Given the description of an element on the screen output the (x, y) to click on. 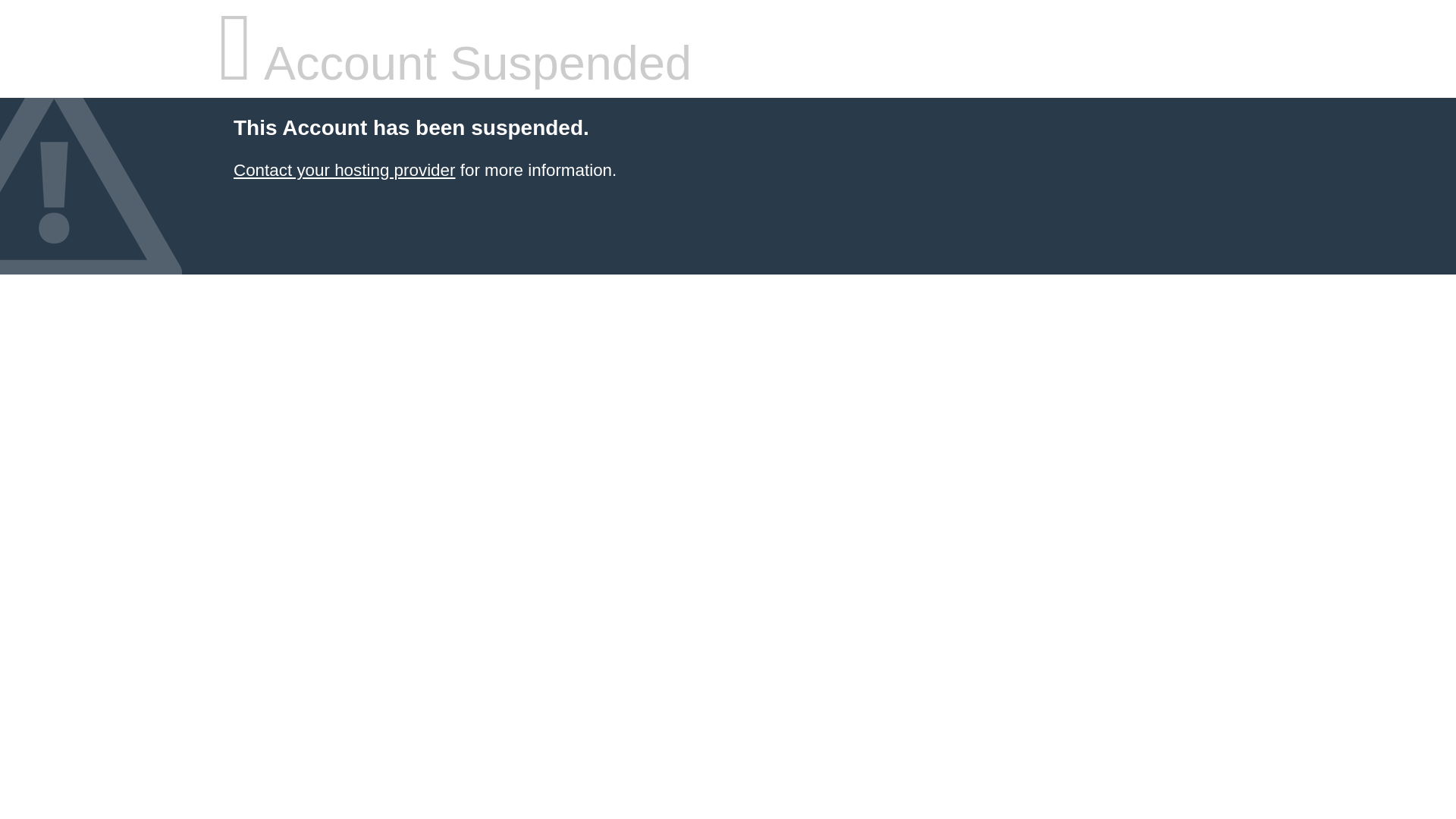
Contact your hosting provider (343, 169)
